Given the description of an element on the screen output the (x, y) to click on. 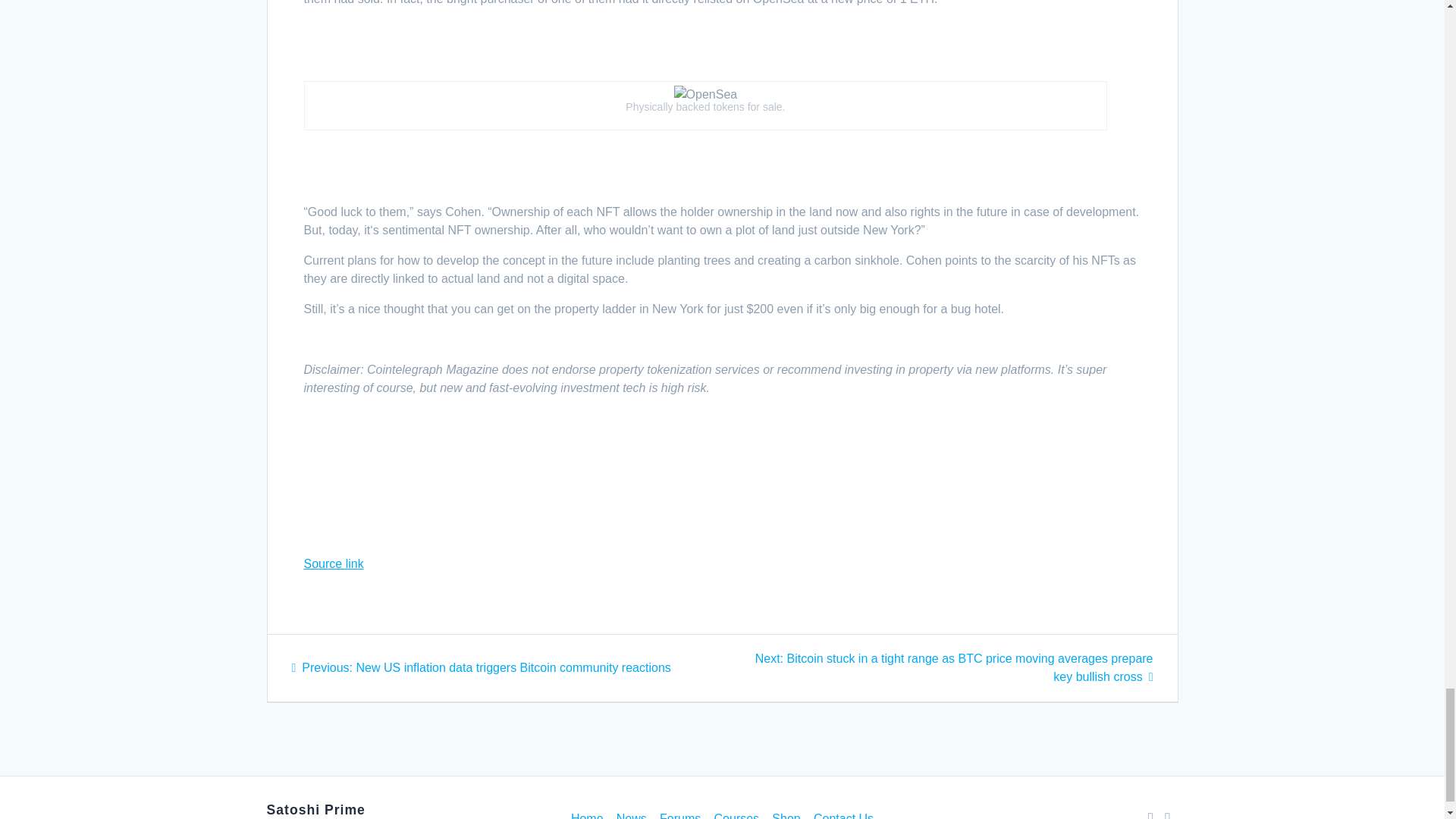
Courses (737, 812)
Home (587, 812)
Contact Us (843, 812)
Forums (679, 812)
Source link (332, 563)
Shop (785, 812)
News (630, 812)
